Given the description of an element on the screen output the (x, y) to click on. 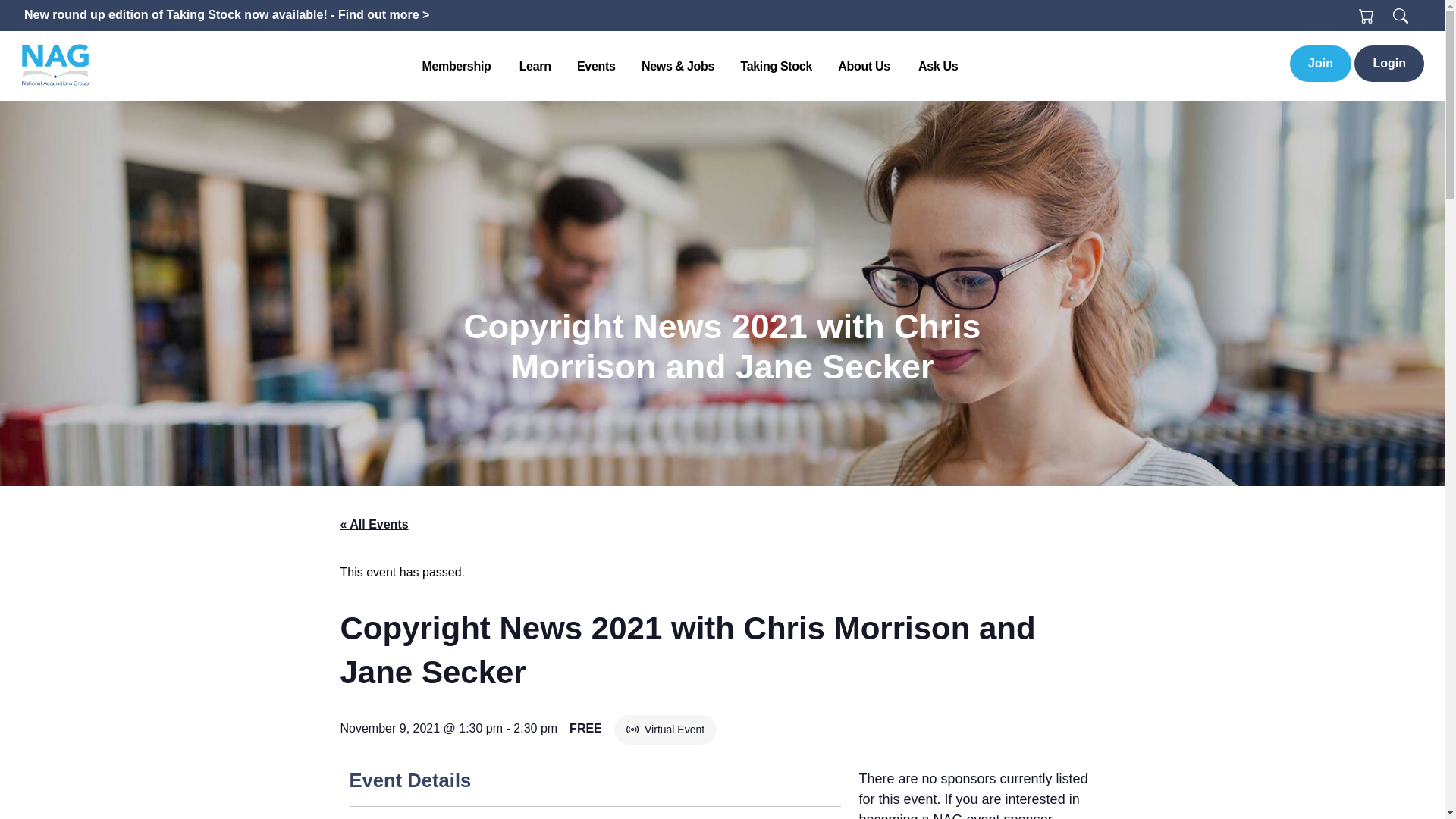
Learn (535, 67)
Taking Stock (775, 67)
Membership (456, 67)
Virtual Event (634, 729)
Events (595, 67)
Virtual Event (632, 729)
View your shopping cart (1366, 14)
